Given the description of an element on the screen output the (x, y) to click on. 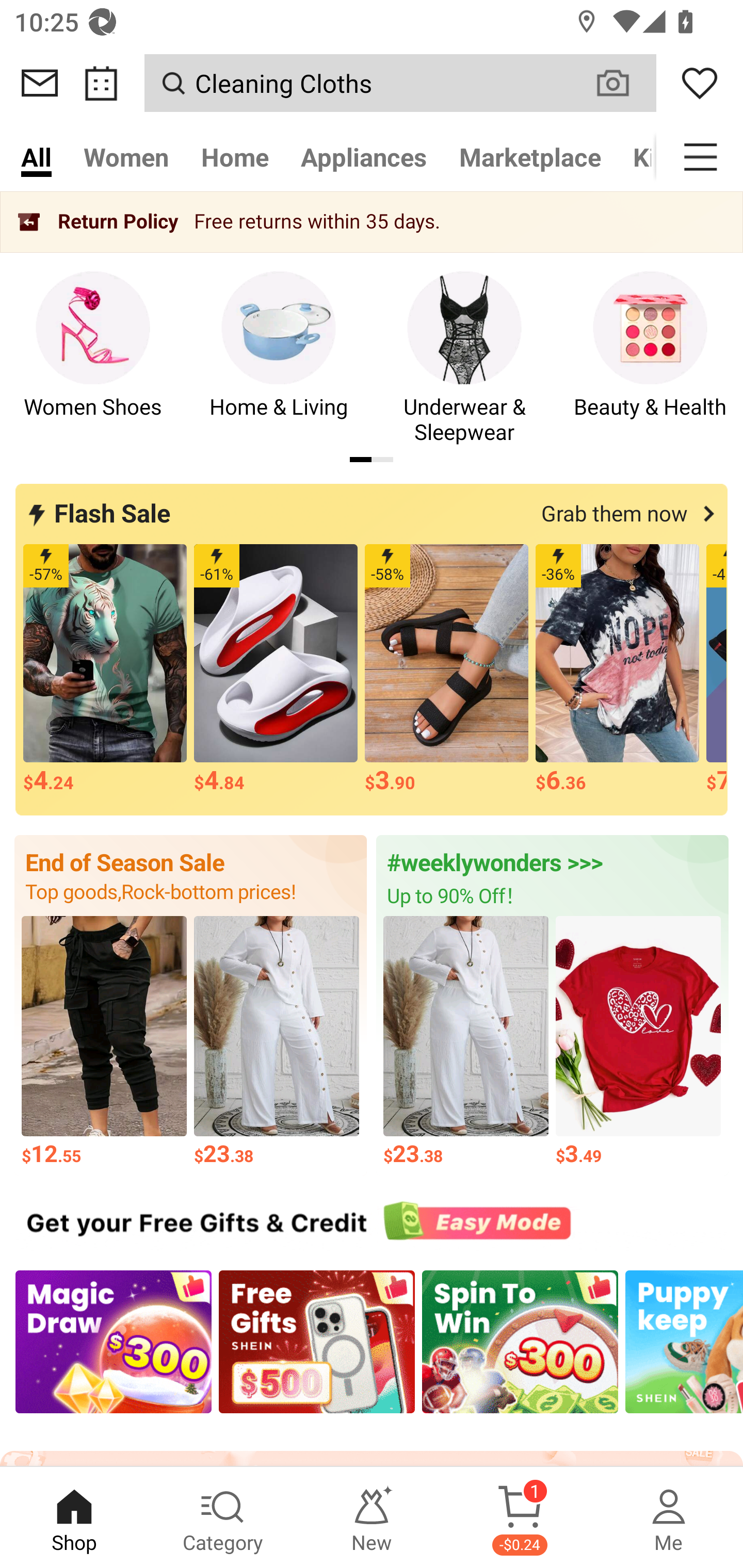
Wishlist (699, 82)
VISUAL SEARCH (623, 82)
All (36, 156)
Women (126, 156)
Home (234, 156)
Appliances (363, 156)
Marketplace (530, 156)
Return Policy   Free returns within 35 days. (371, 221)
Women Shoes (92, 358)
Home & Living (278, 358)
Underwear & Sleepwear (464, 358)
Beauty & Health (650, 358)
$12.55 Price $12.55 (103, 1041)
$23.38 Price $23.38 (276, 1041)
$23.38 Price $23.38 (465, 1041)
$3.49 Price $3.49 (638, 1041)
Category (222, 1517)
New (371, 1517)
Cart 1 -$0.24 (519, 1517)
Me (668, 1517)
